Given the description of an element on the screen output the (x, y) to click on. 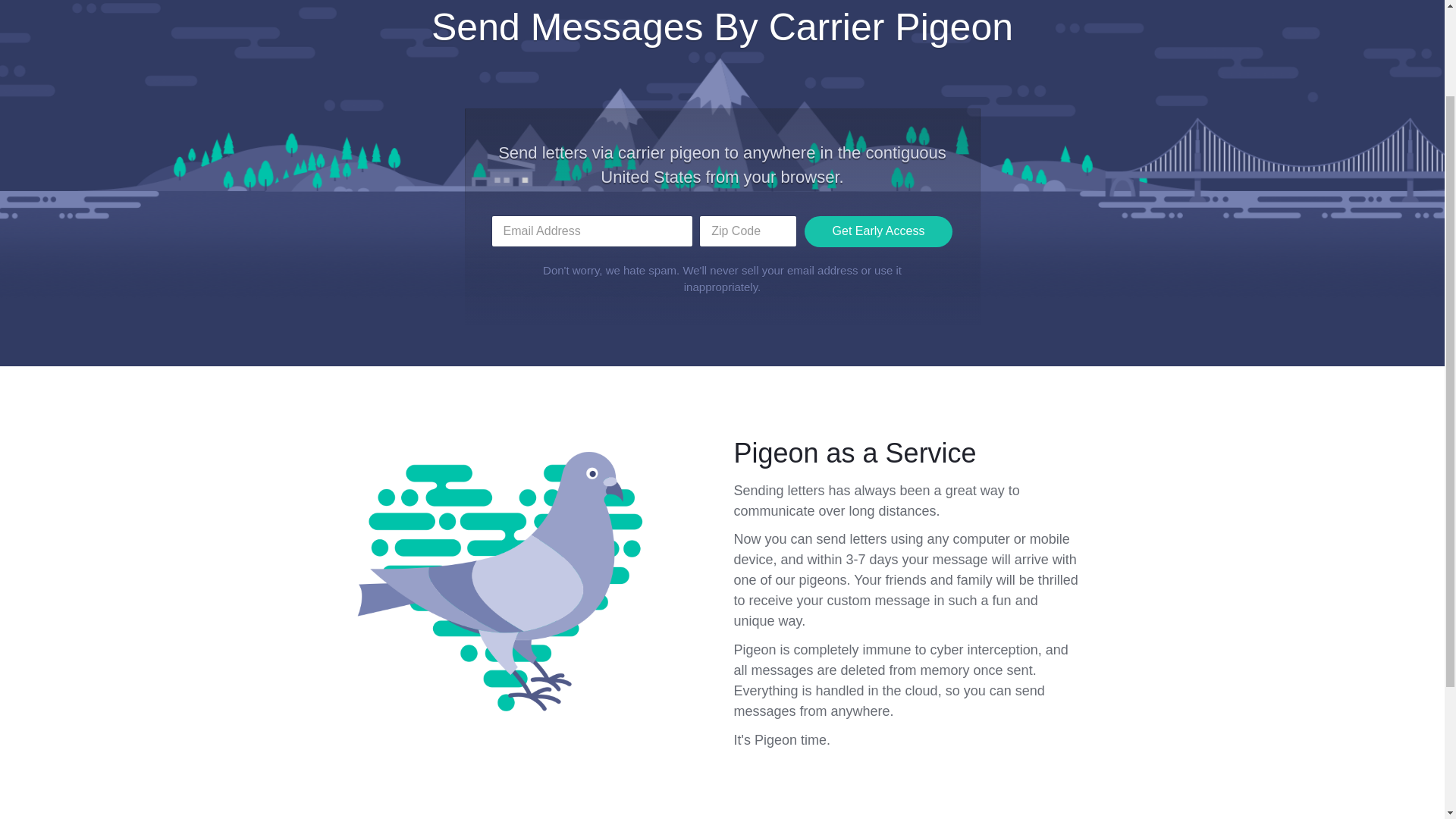
Get Early Access (877, 372)
